Given the description of an element on the screen output the (x, y) to click on. 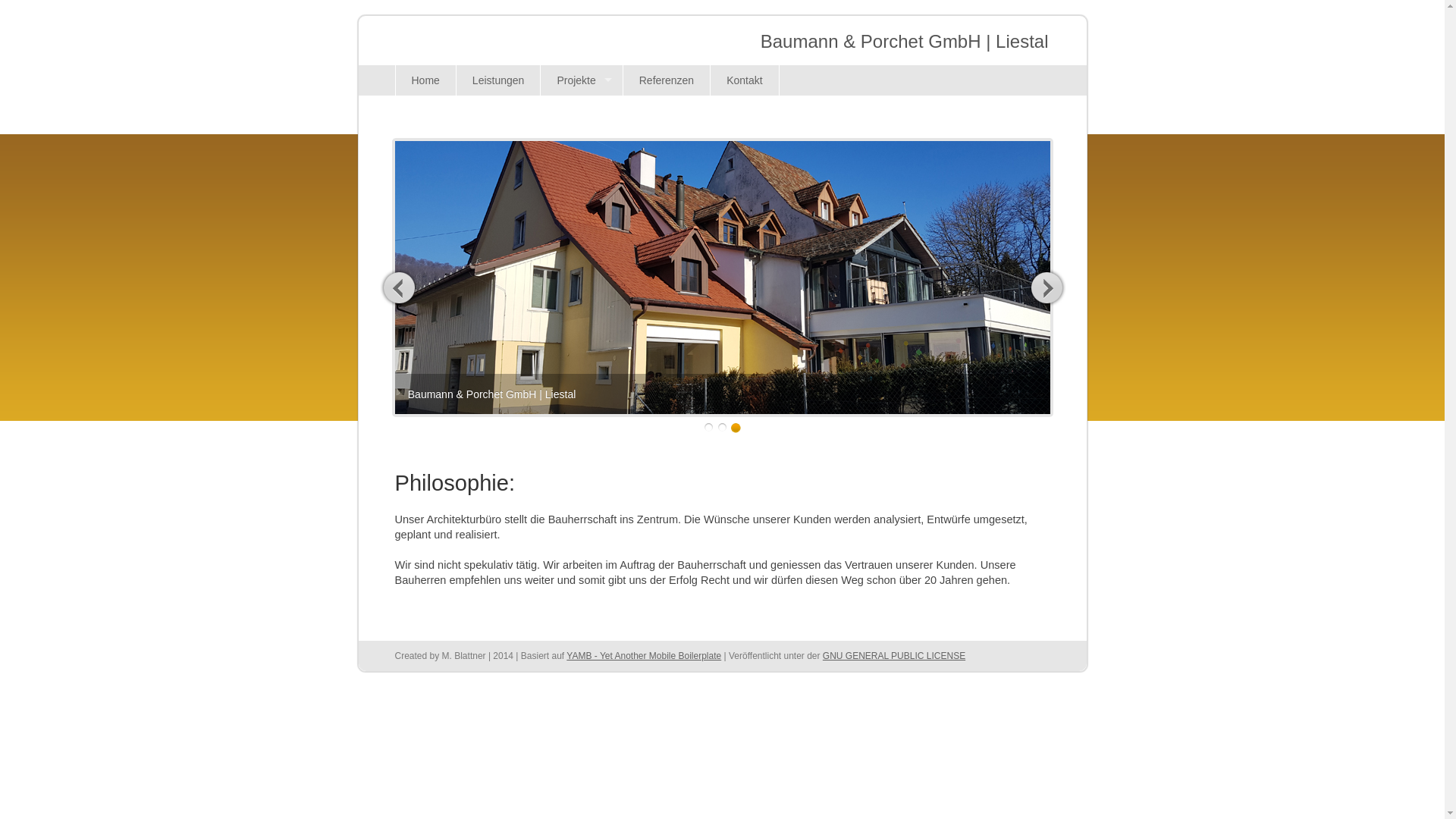
Previous Element type: text (398, 287)
Leistungen Element type: text (497, 80)
Referenzen Element type: text (665, 80)
Kontakt Element type: text (743, 80)
Next Element type: text (1046, 287)
1 Element type: text (708, 428)
GNU GENERAL PUBLIC LICENSE Element type: text (893, 655)
YAMB - Yet Another Mobile Boilerplate Element type: text (643, 655)
3 Element type: text (735, 428)
2 Element type: text (722, 428)
Home Element type: text (424, 80)
Projekte Element type: text (580, 80)
